Given the description of an element on the screen output the (x, y) to click on. 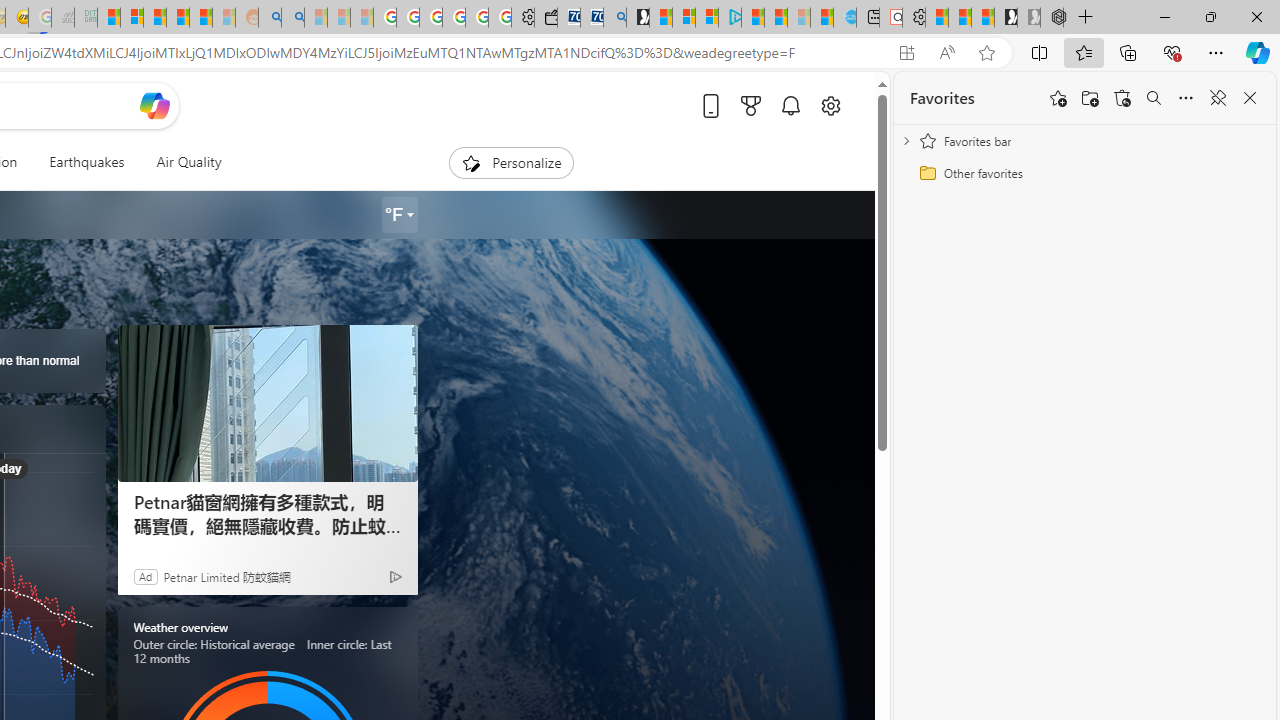
Add this page to favorites (1058, 98)
Earthquakes (86, 162)
